Given the description of an element on the screen output the (x, y) to click on. 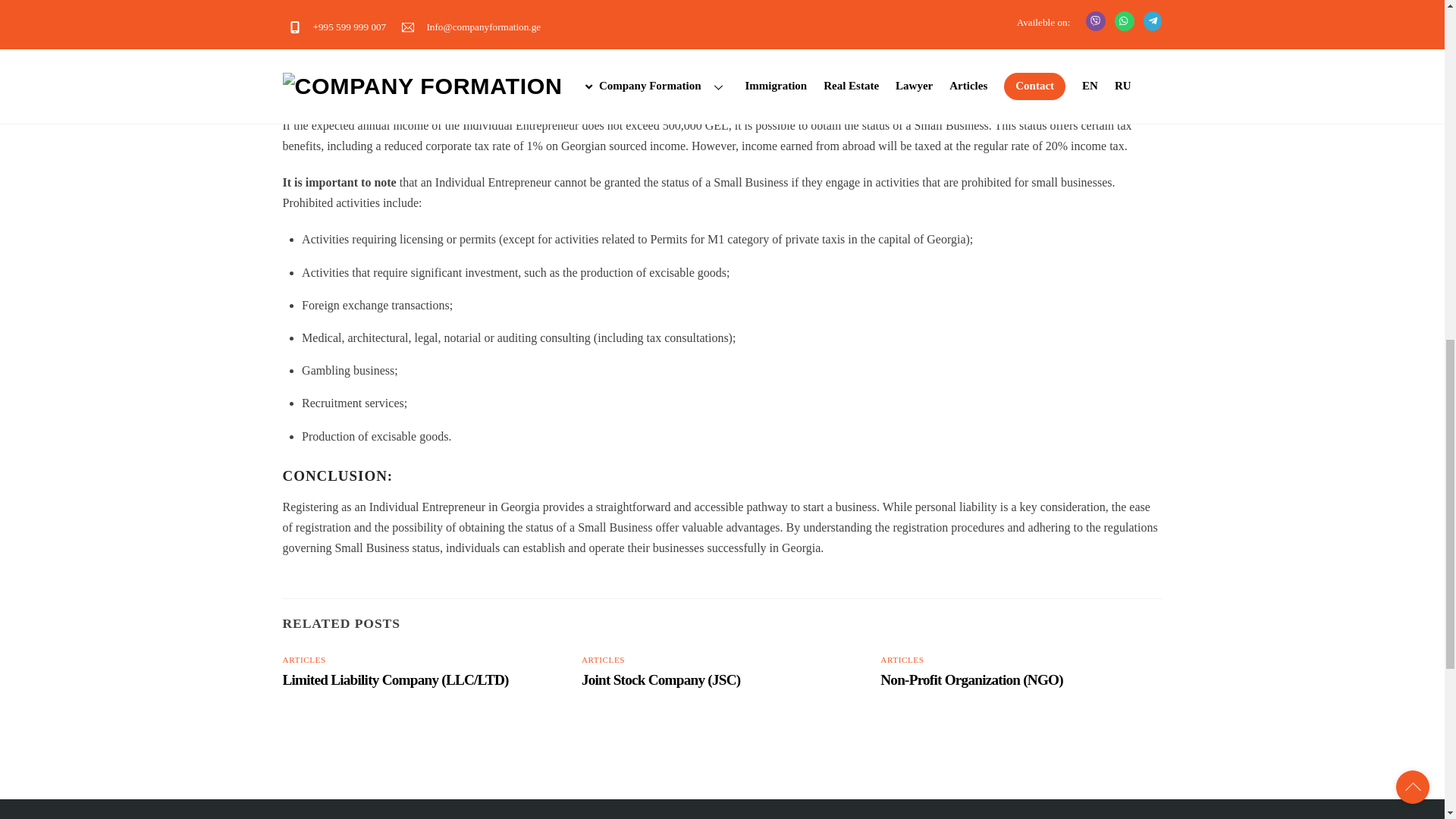
ARTICLES (602, 659)
ARTICLES (303, 659)
ARTICLES (901, 659)
